Given the description of an element on the screen output the (x, y) to click on. 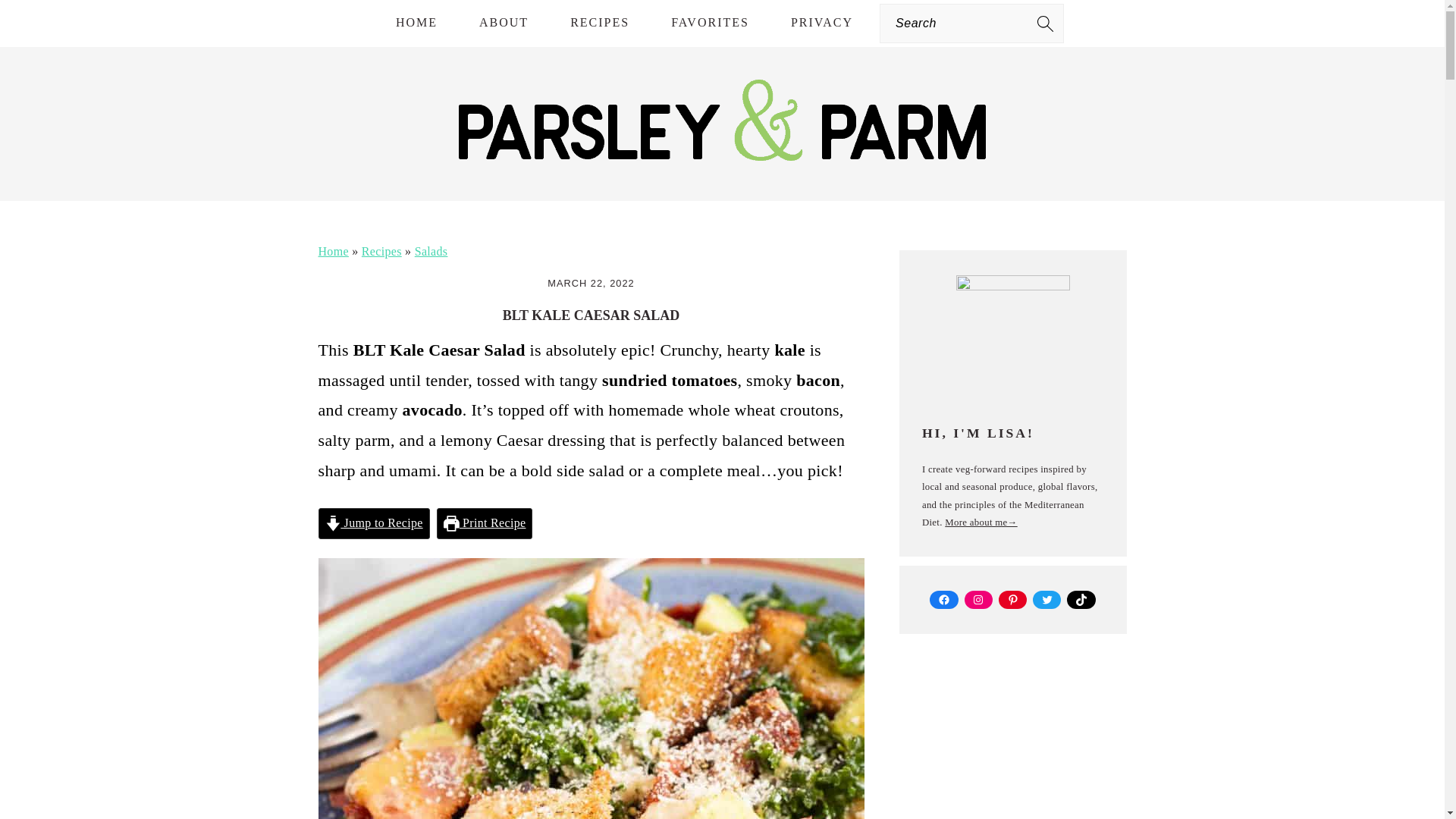
Salads (431, 250)
Search (275, 19)
FAVORITES (710, 22)
Recipes (381, 250)
HOME (417, 22)
Home (333, 250)
Jump to Recipe (373, 522)
RECIPES (599, 22)
Print Recipe (484, 522)
PRIVACY (821, 22)
ABOUT (503, 22)
